Given the description of an element on the screen output the (x, y) to click on. 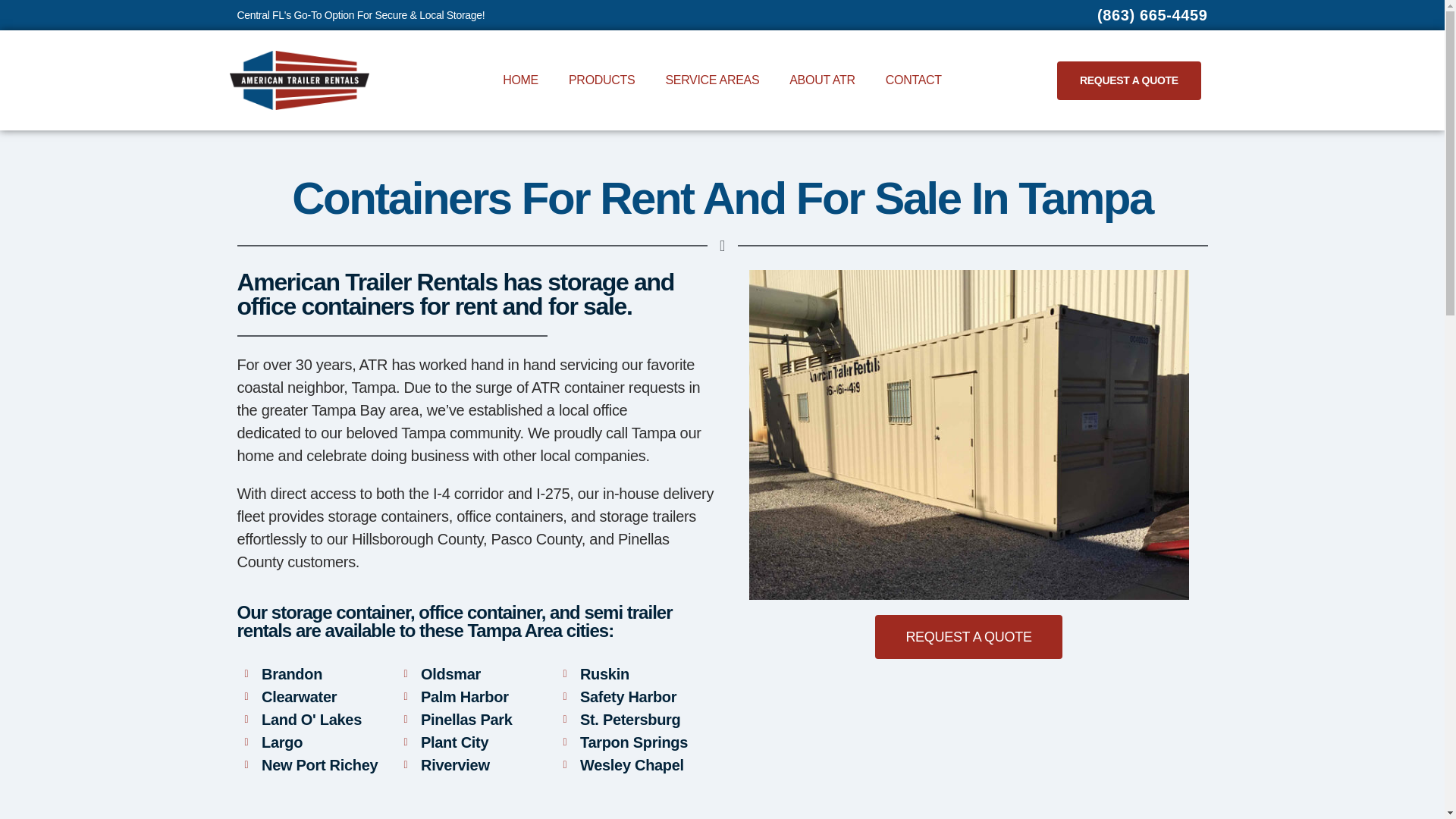
HOME (520, 80)
PRODUCTS (601, 80)
SERVICE AREAS (711, 80)
